Given the description of an element on the screen output the (x, y) to click on. 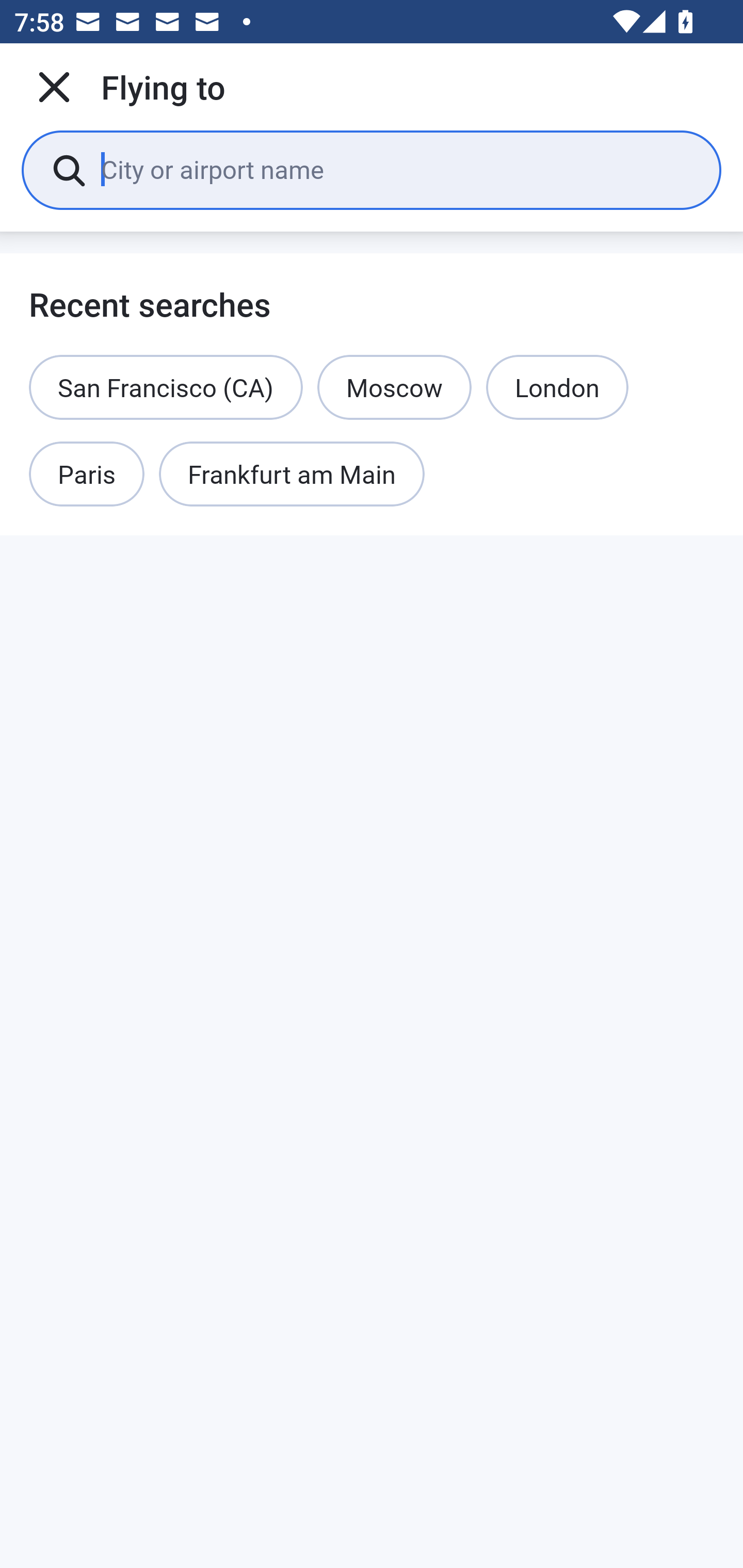
City or airport name (396, 169)
San Francisco (CA) (165, 387)
Moscow (394, 387)
London (556, 387)
Paris (86, 474)
Frankfurt am Main (291, 474)
